Given the description of an element on the screen output the (x, y) to click on. 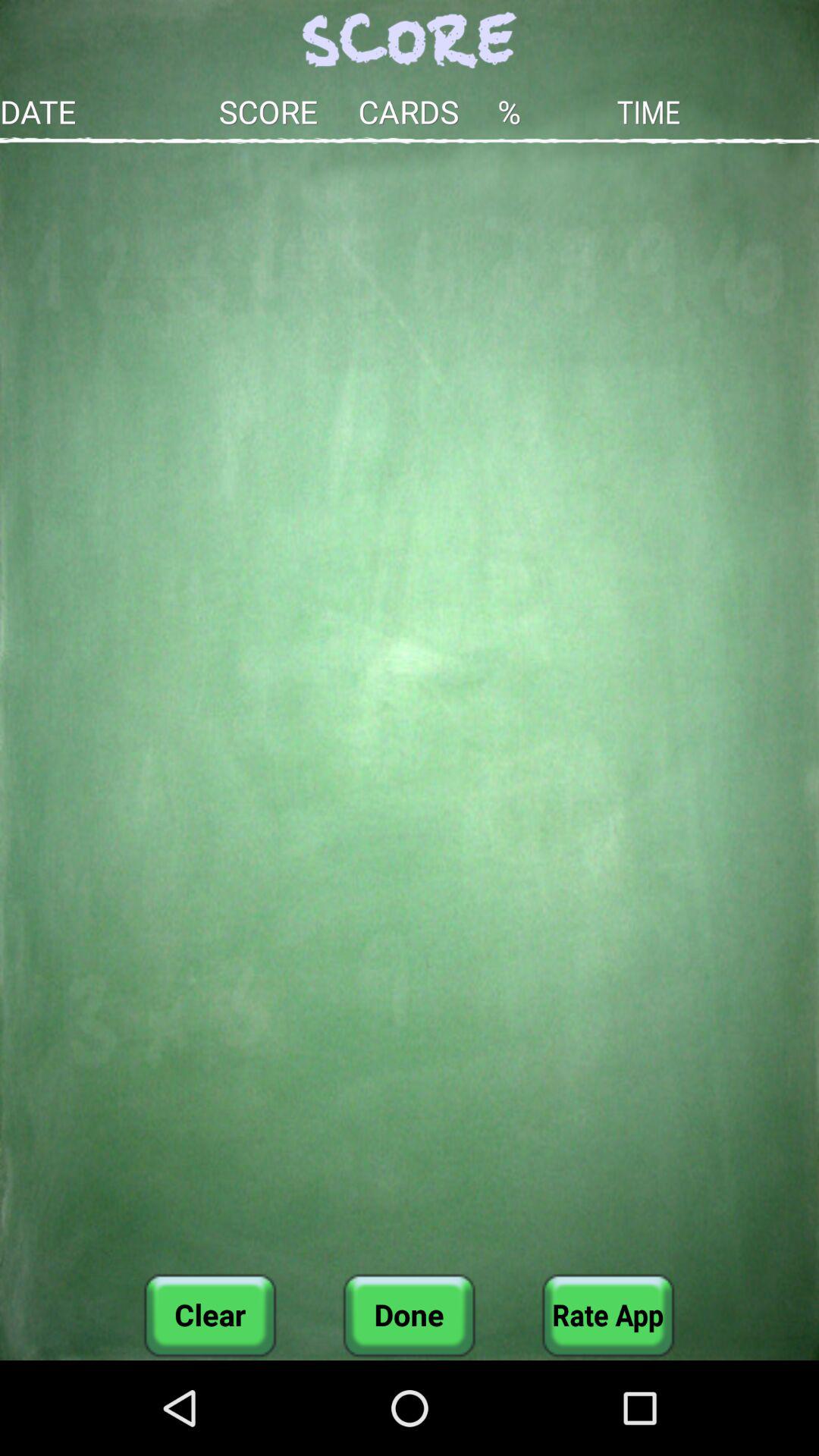
swipe to rate app (607, 1315)
